Given the description of an element on the screen output the (x, y) to click on. 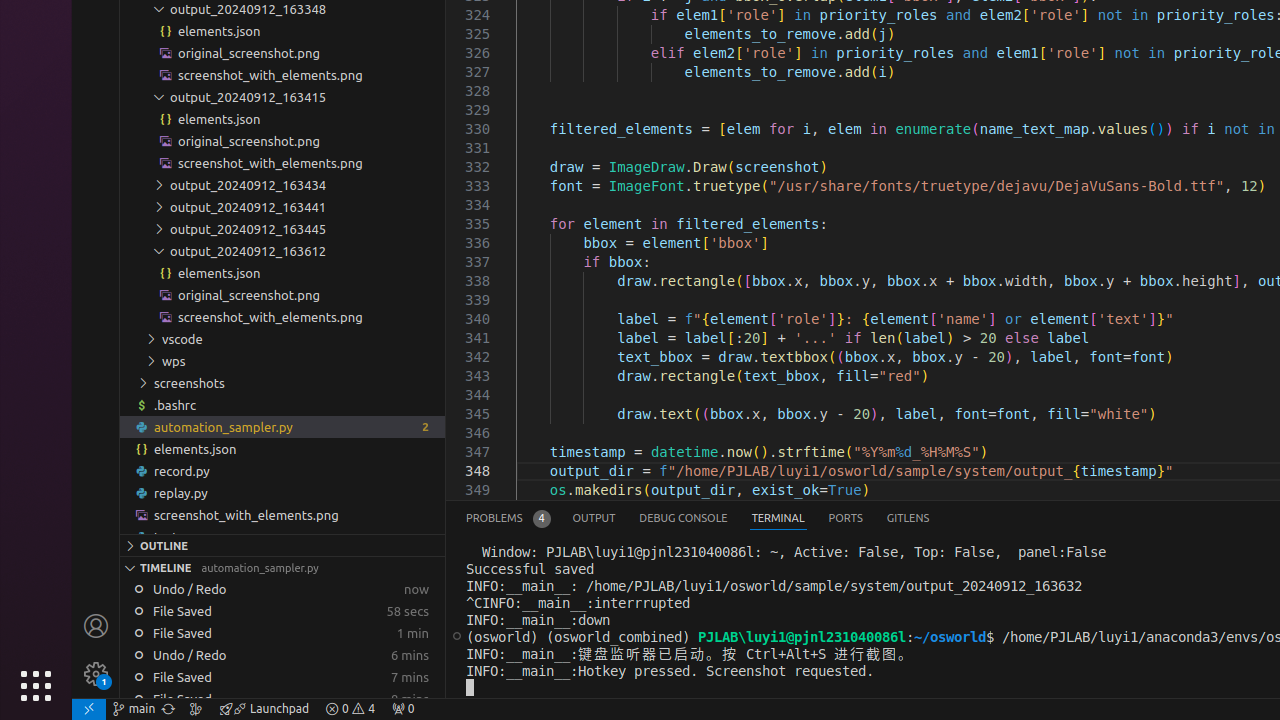
OSWorld (Git) - main, Checkout Branch/Tag... Element type: push-button (134, 709)
1 minute: File Saved Element type: tree-item (282, 633)
6 minutes: Undo / Redo Element type: tree-item (282, 655)
Ports Element type: page-tab (845, 518)
OSWorld (Git) - Synchronize Changes Element type: push-button (168, 709)
